Given the description of an element on the screen output the (x, y) to click on. 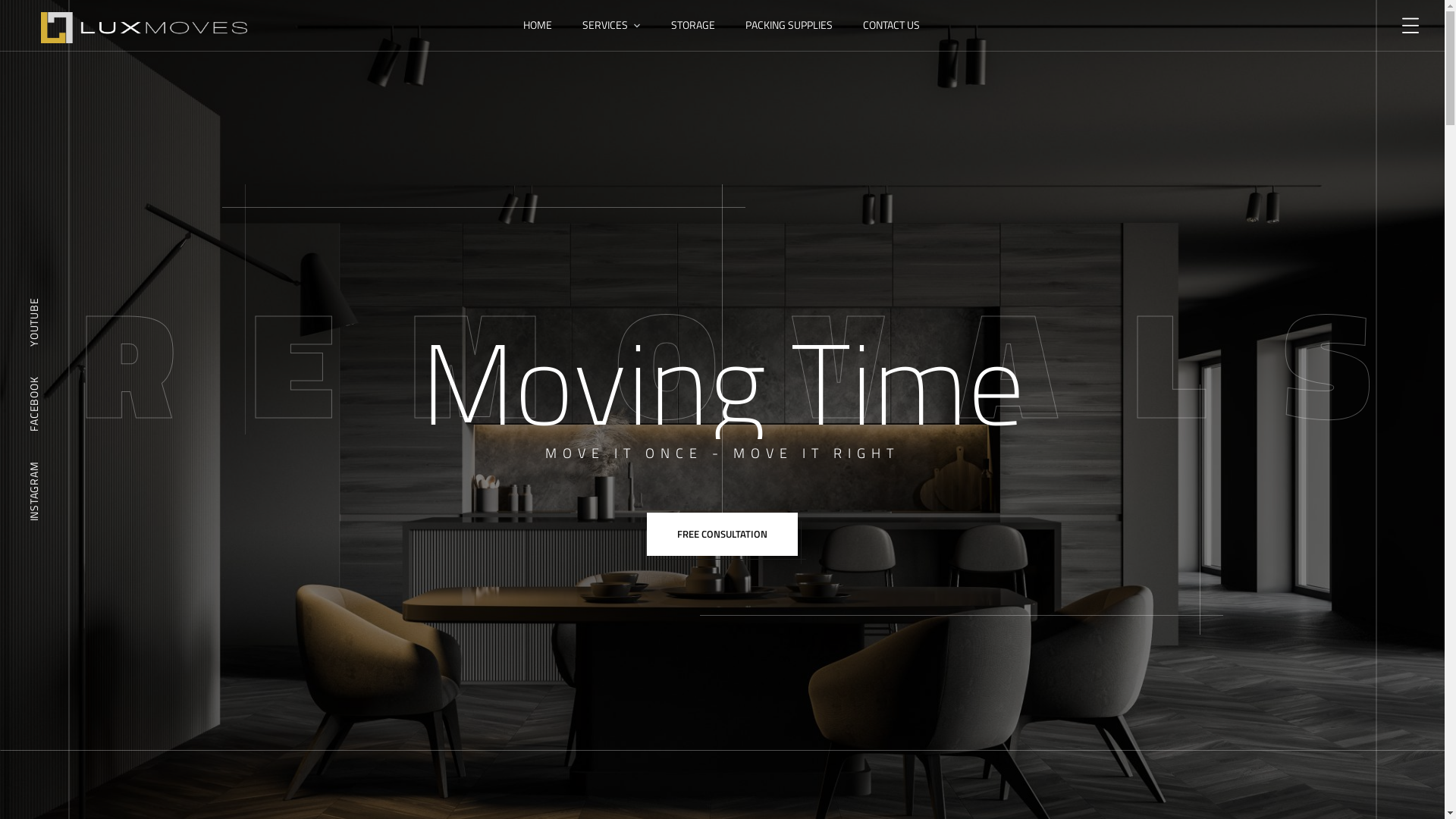
YOUTUBE Element type: text (34, 321)
FREE CONSULTATION Element type: text (721, 533)
SERVICES Element type: text (611, 25)
INSTAGRAM Element type: text (34, 491)
HOME Element type: text (537, 25)
STORAGE Element type: text (693, 25)
CONTACT US Element type: text (890, 25)
FACEBOOK Element type: text (34, 403)
PACKING SUPPLIES Element type: text (788, 25)
